Given the description of an element on the screen output the (x, y) to click on. 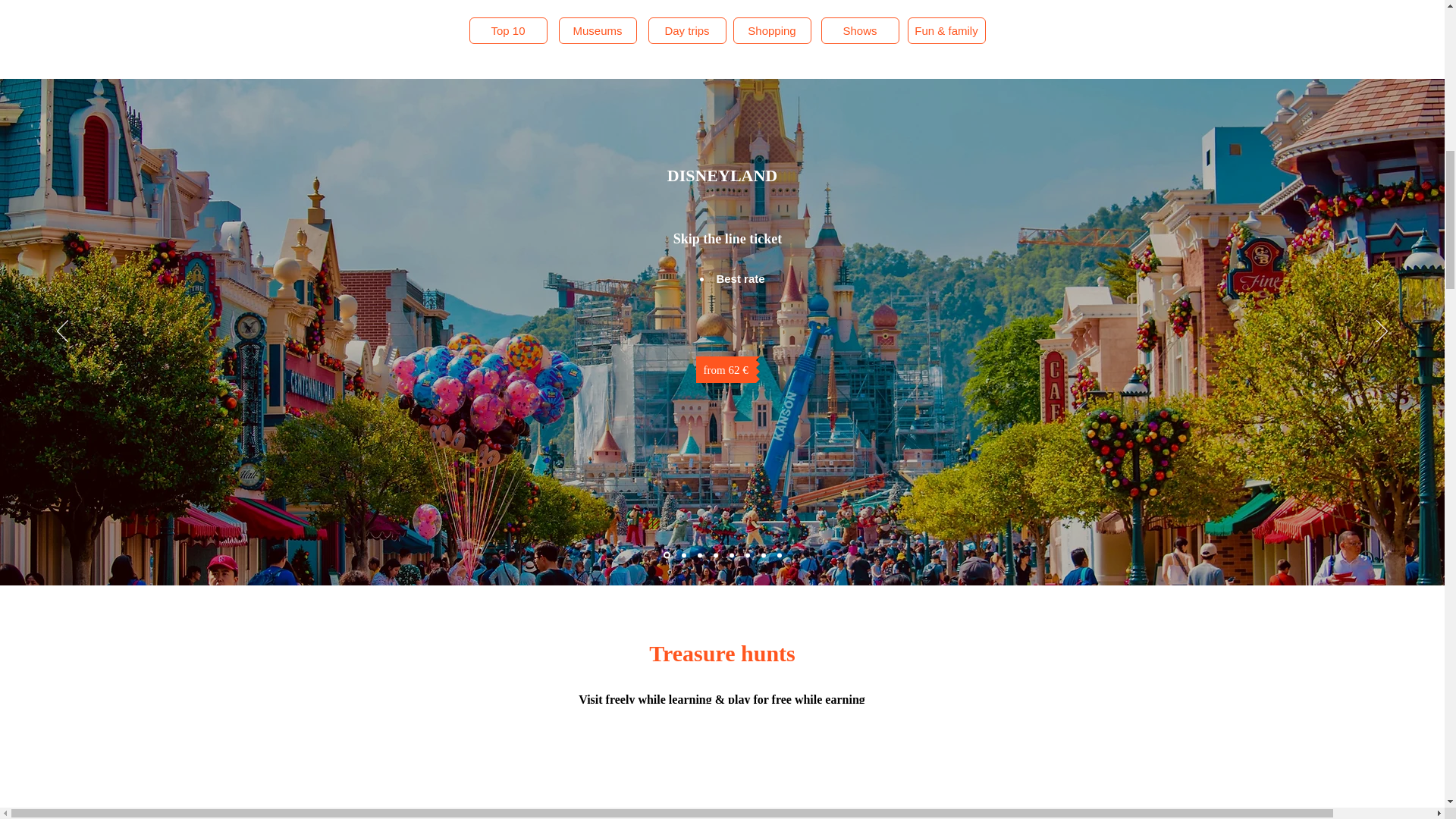
Museums (596, 30)
Day trips (686, 30)
Top 10 (507, 30)
Shopping (771, 30)
Shows (859, 30)
